Given the description of an element on the screen output the (x, y) to click on. 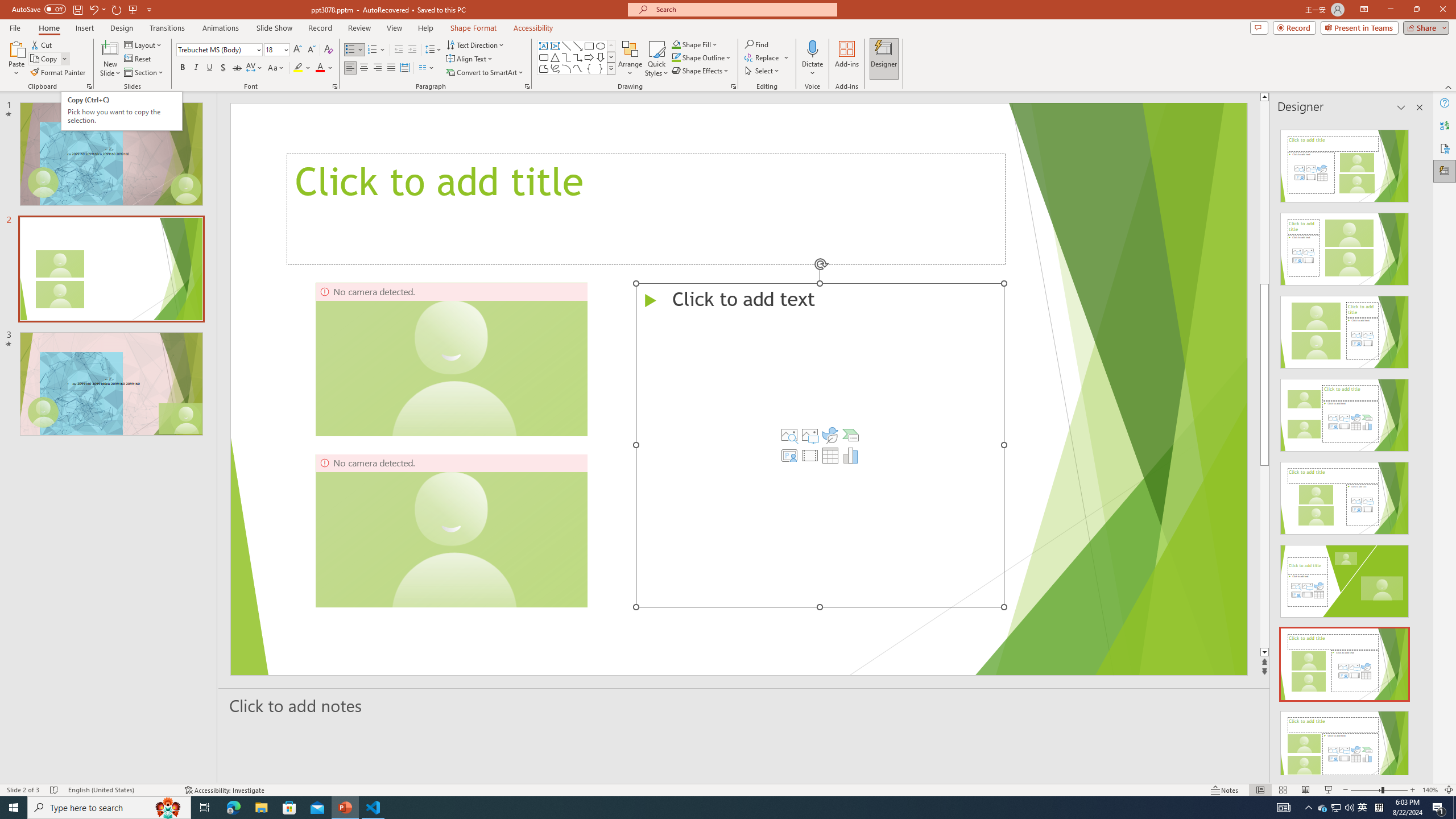
Insert Cameo (788, 455)
Class: NetUIScrollBar (1418, 447)
